Given the description of an element on the screen output the (x, y) to click on. 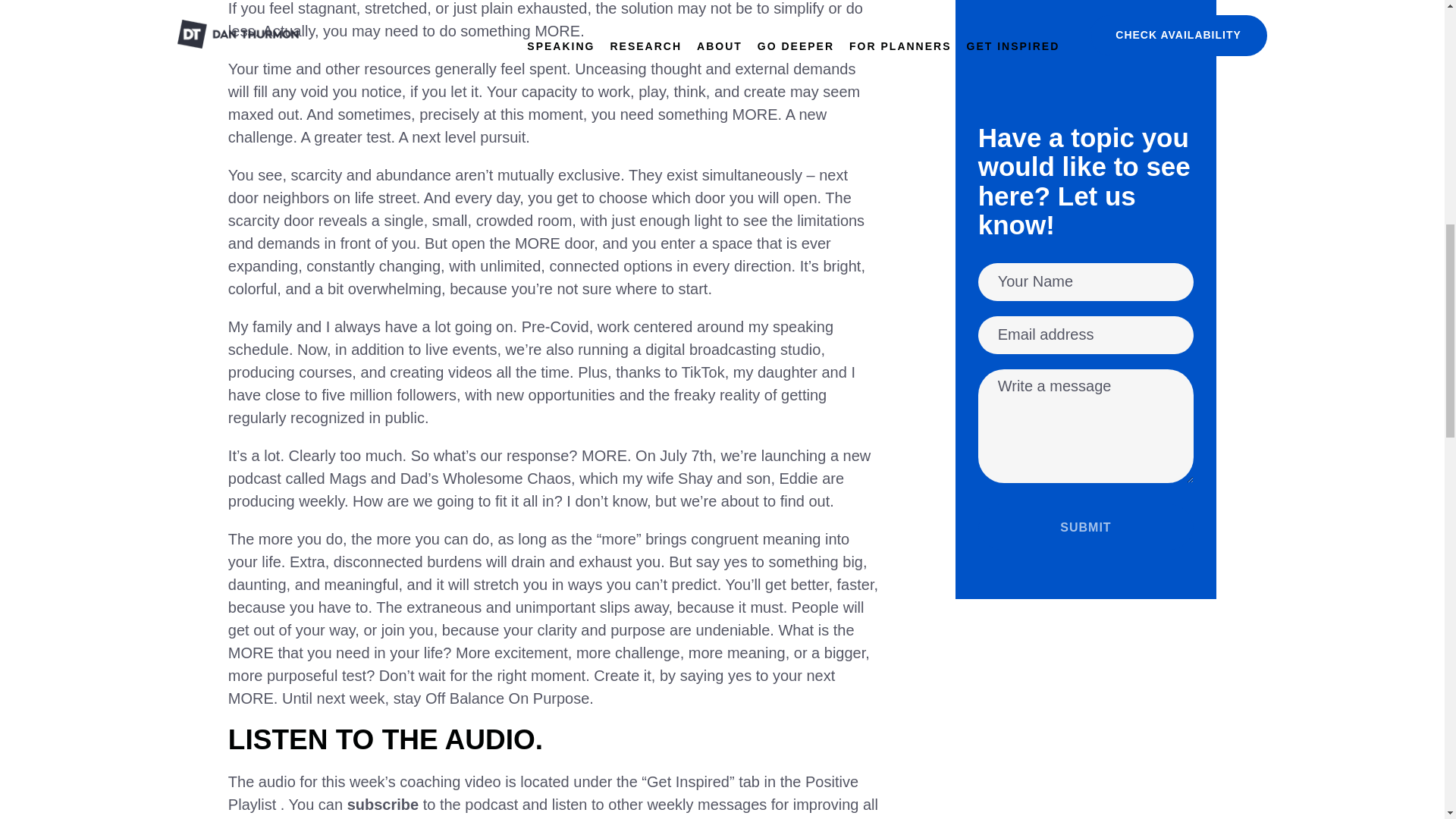
LISTEN TO THE AUDIO. (385, 739)
Submit (1085, 526)
Submit (1085, 526)
